Given the description of an element on the screen output the (x, y) to click on. 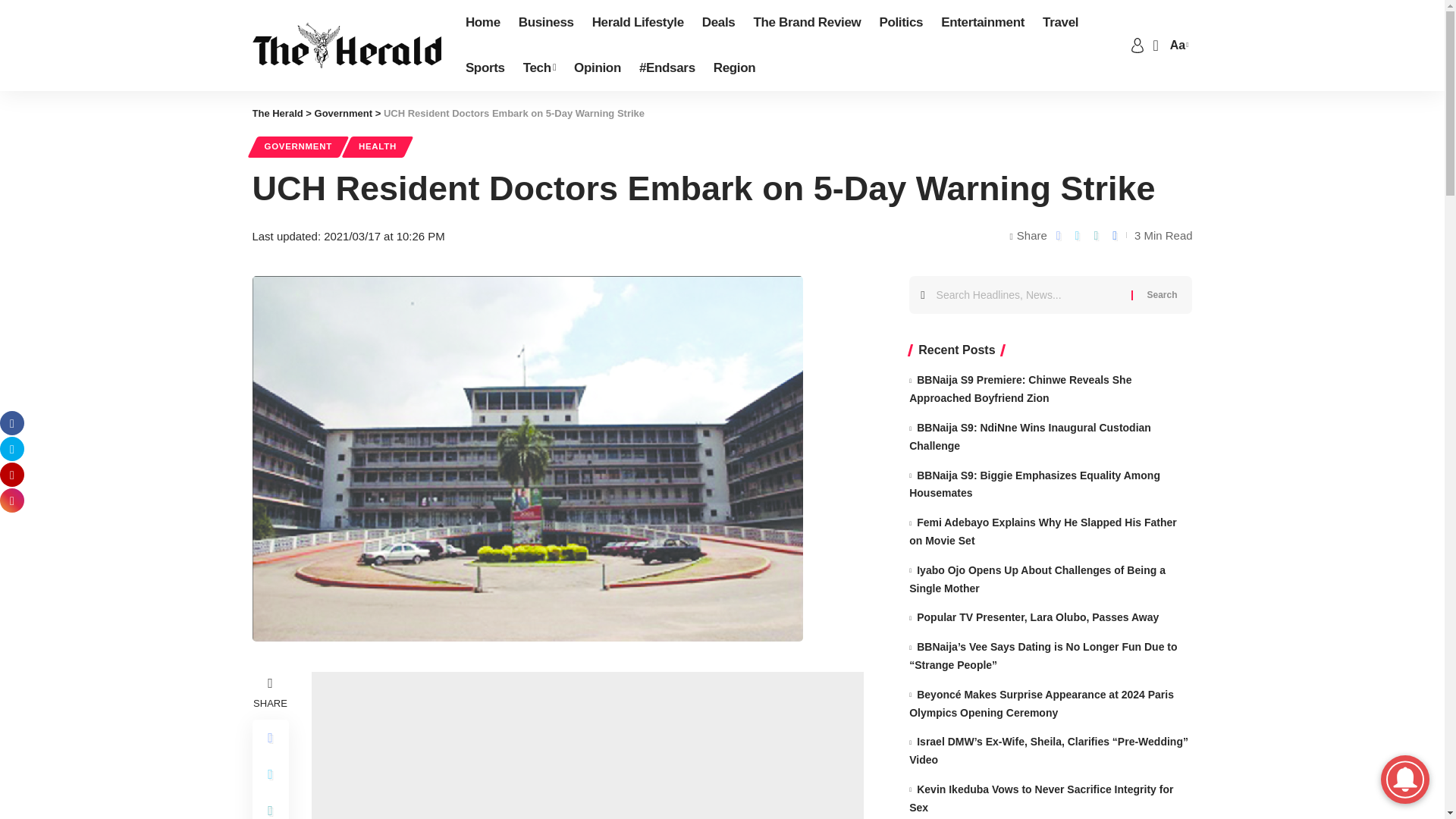
Region (734, 67)
Sports (485, 67)
The Brand Review (806, 22)
Search (1161, 294)
Politics (900, 22)
Aa (1177, 45)
Herald Lifestyle (638, 22)
Business (546, 22)
Travel (1060, 22)
Advertisement (587, 745)
Tech (538, 67)
Deals (718, 22)
Entertainment (982, 22)
Opinion (597, 67)
The Herald (346, 44)
